Given the description of an element on the screen output the (x, y) to click on. 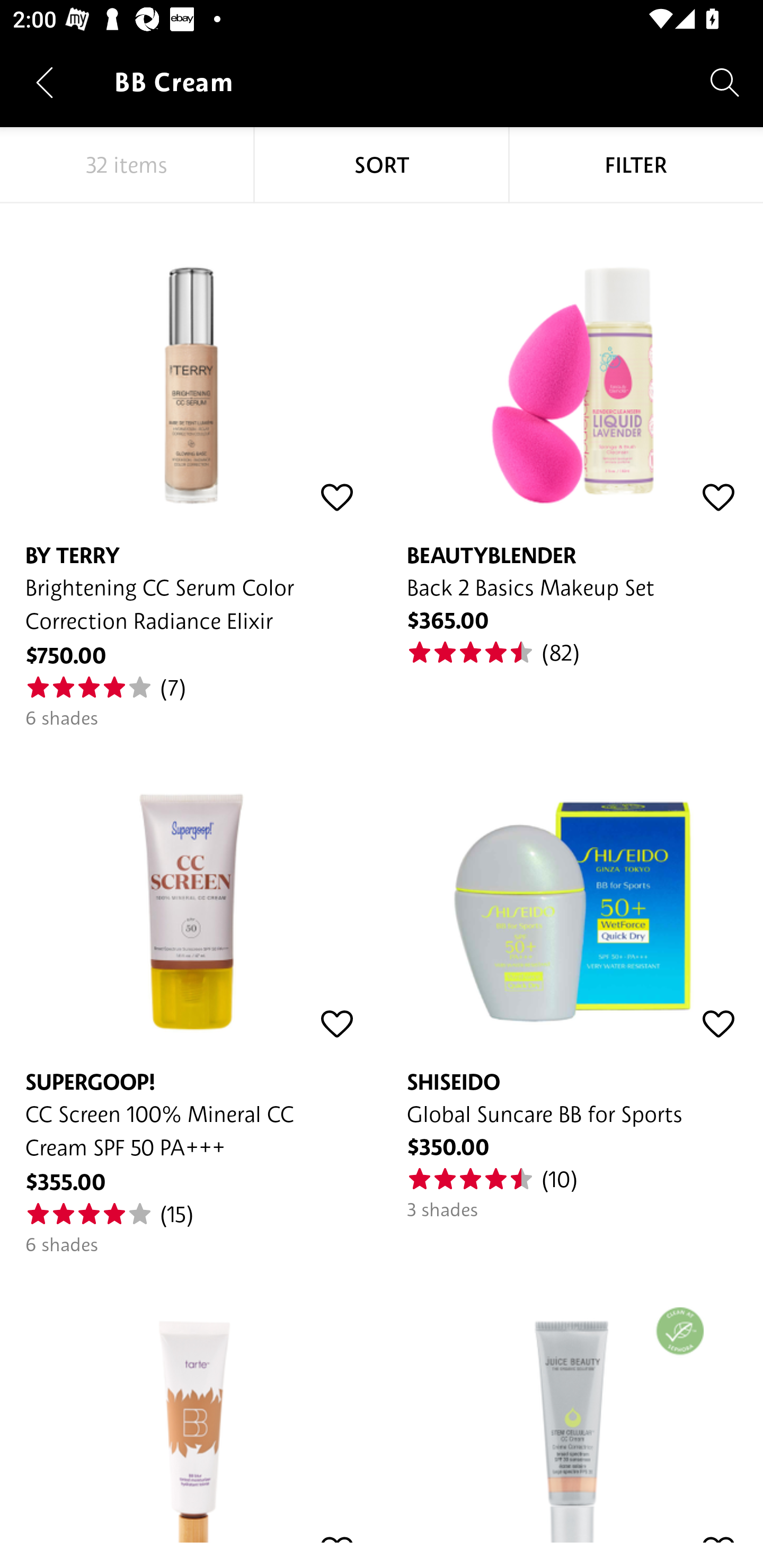
Navigate up (44, 82)
Search (724, 81)
SORT (381, 165)
FILTER (636, 165)
